Given the description of an element on the screen output the (x, y) to click on. 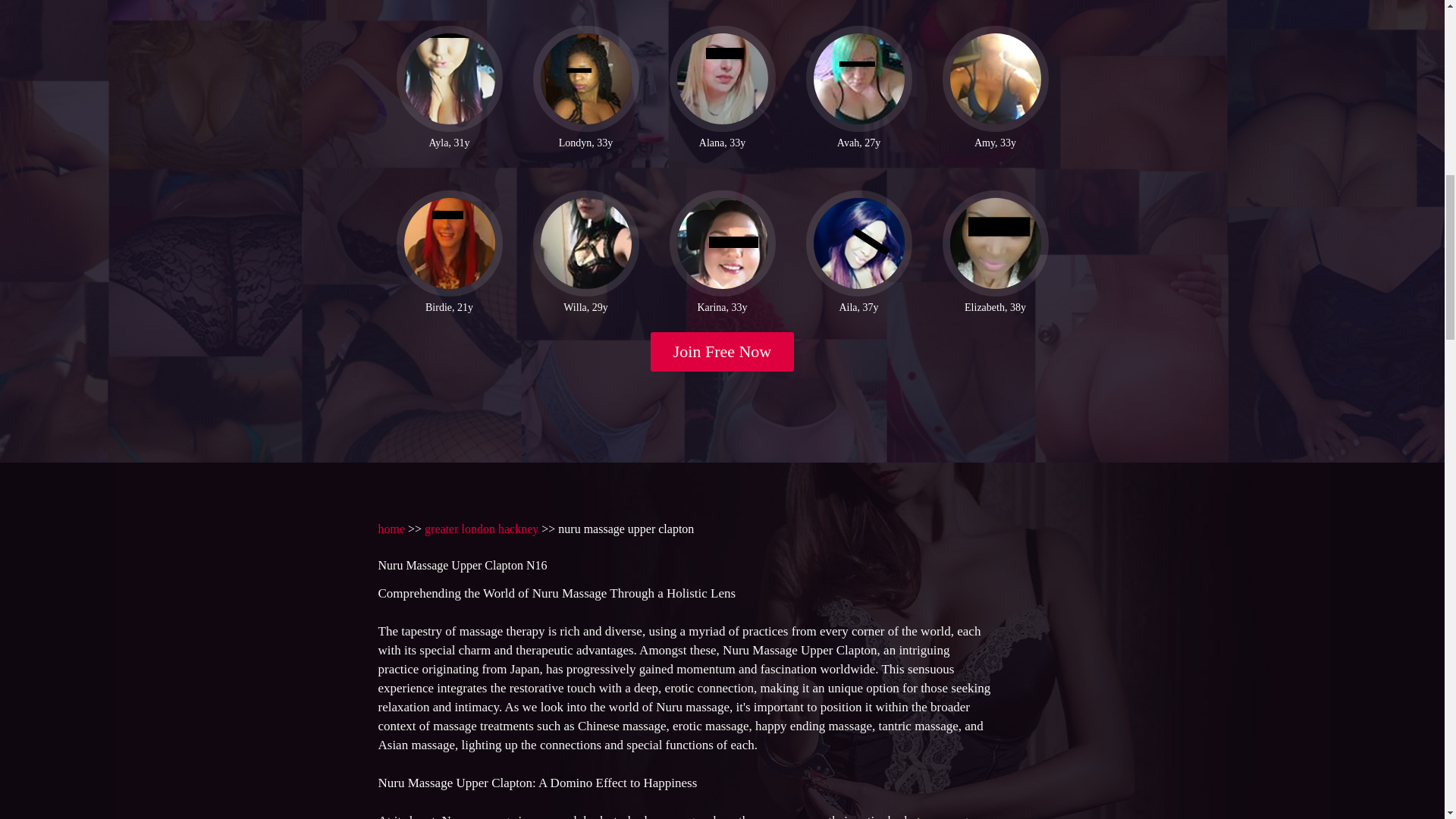
home (390, 528)
Join Free Now (722, 351)
greater london hackney (481, 528)
Join (722, 351)
